Given the description of an element on the screen output the (x, y) to click on. 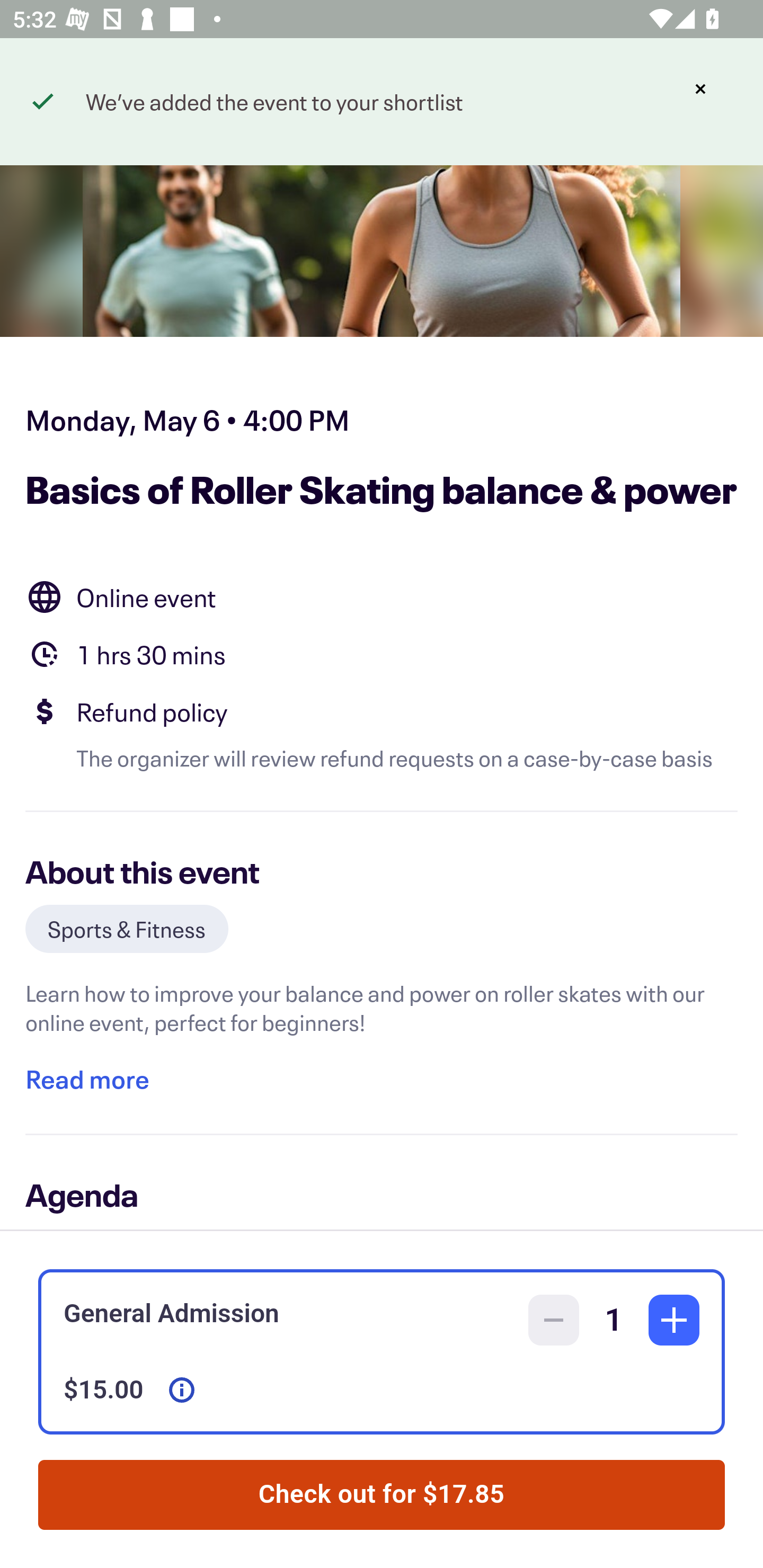
Dismiss notification (700, 89)
Back (57, 94)
Location Online event (381, 596)
Read more (87, 1078)
Decrease (553, 1320)
Increase (673, 1320)
Show more information (181, 1389)
Check out for $17.85 (381, 1494)
